Given the description of an element on the screen output the (x, y) to click on. 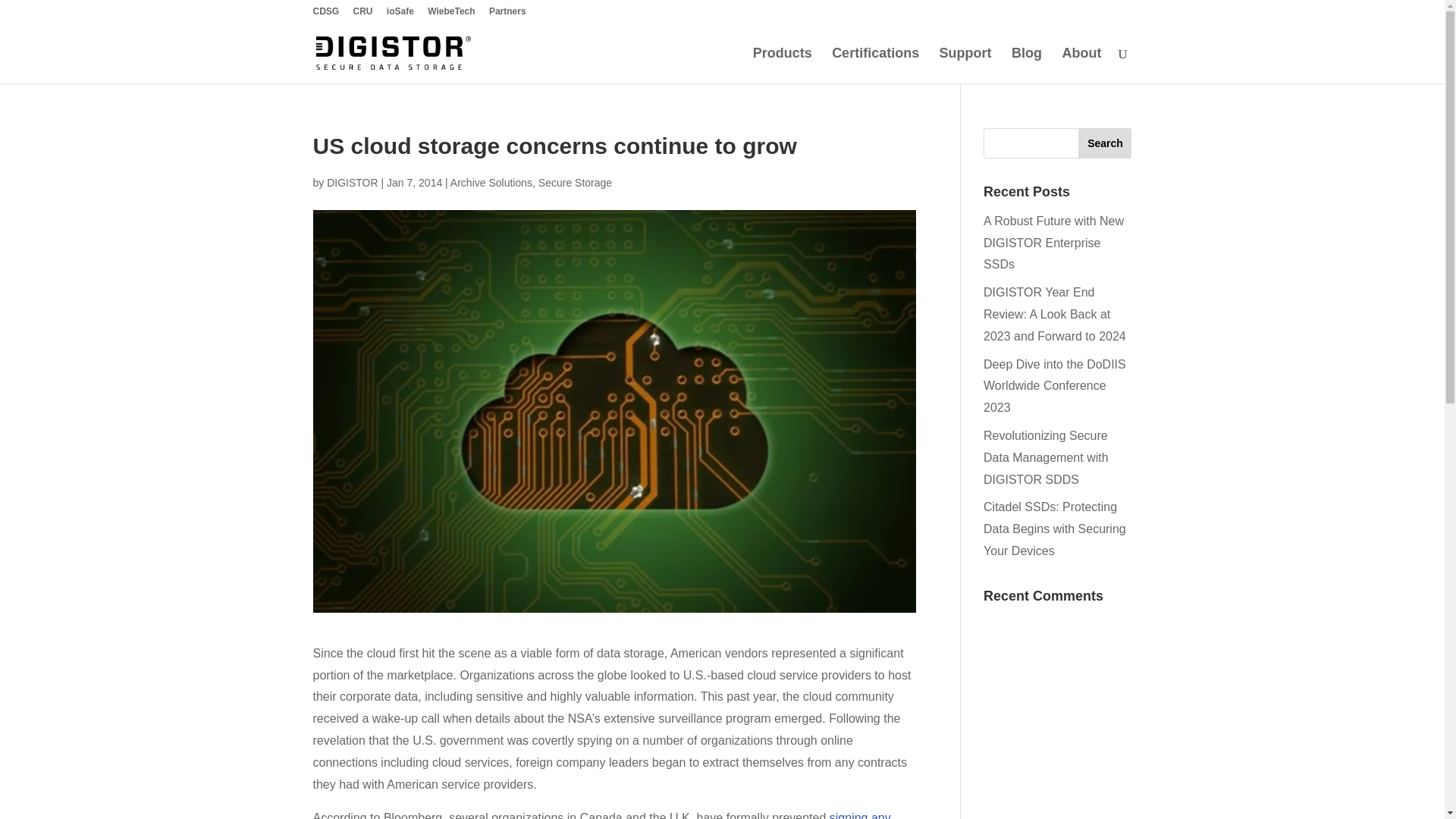
Secure Storage (574, 182)
About (1082, 65)
ioSafe (400, 14)
Deep Dive into the DoDIIS Worldwide Conference 2023 (1054, 385)
Search (1104, 142)
Certifications (874, 65)
Search (1104, 142)
signing any future service-level agreements (601, 815)
DIGISTOR (351, 182)
